Given the description of an element on the screen output the (x, y) to click on. 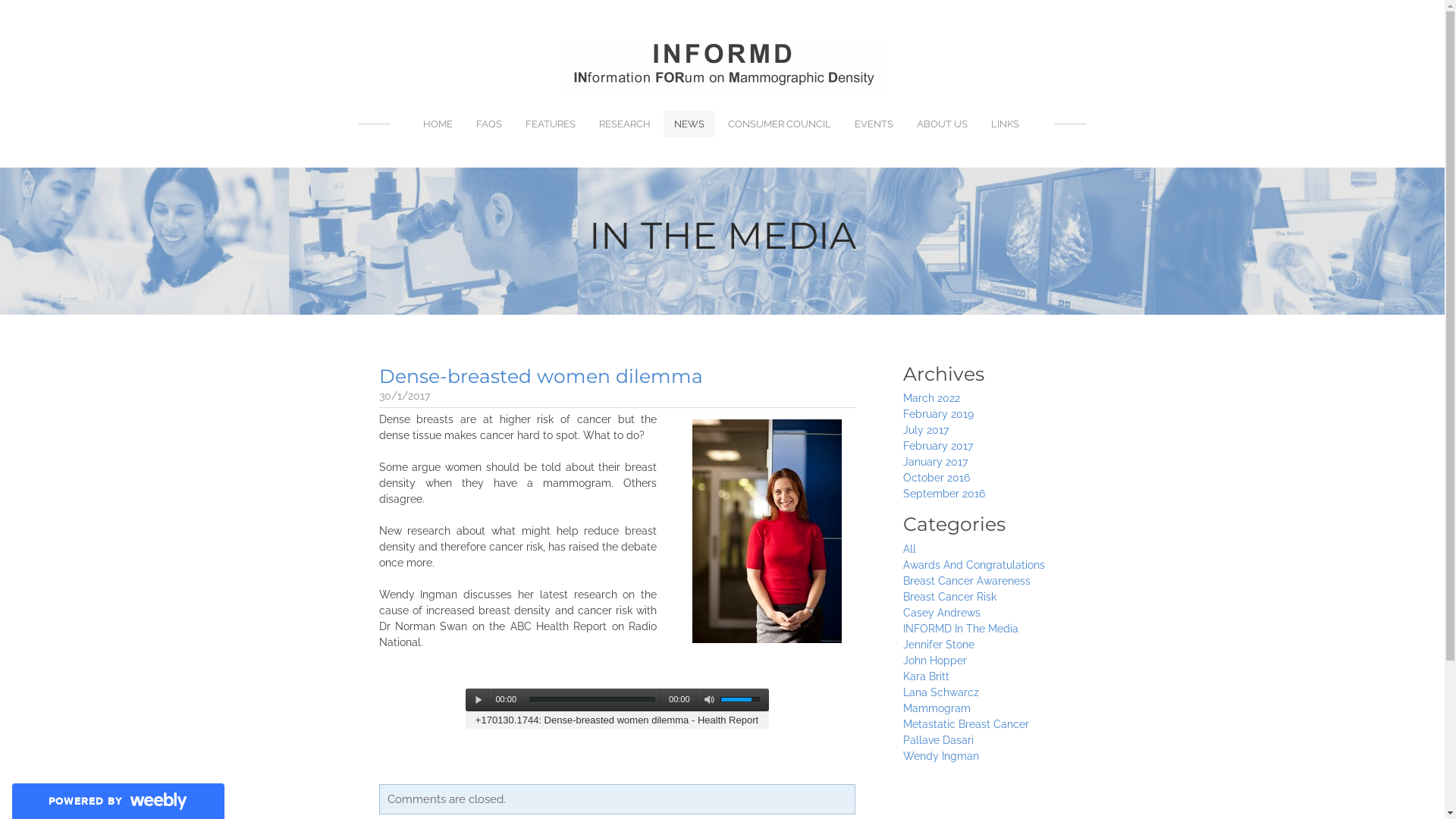
Jennifer Stone Element type: text (937, 644)
March 2022 Element type: text (930, 398)
July 2017 Element type: text (924, 429)
Metastatic Breast Cancer Element type: text (965, 724)
John Hopper Element type: text (934, 660)
FAQS Element type: text (488, 123)
Awards And Congratulations Element type: text (973, 564)
All Element type: text (908, 548)
Breast Cancer Awareness Element type: text (965, 580)
CONSUMER COUNCIL Element type: text (779, 123)
FEATURES Element type: text (550, 123)
Wendy Ingman Element type: text (940, 755)
Play/Pause Element type: hover (479, 699)
Mammogram Element type: text (935, 708)
October 2016 Element type: text (935, 477)
Pallave Dasari Element type: text (937, 740)
LINKS Element type: text (1004, 123)
Dense-breasted women dilemma Element type: text (540, 375)
NEWS Element type: text (689, 123)
Mute Toggle Element type: hover (708, 699)
INFORMD In The Media Element type: text (959, 628)
January 2017 Element type: text (934, 461)
September 2016 Element type: text (943, 493)
February 2017 Element type: text (937, 445)
HOME Element type: text (437, 123)
February 2019 Element type: text (937, 413)
Breast Cancer Risk Element type: text (948, 596)
ABOUT US Element type: text (942, 123)
EVENTS Element type: text (873, 123)
RESEARCH Element type: text (624, 123)
Casey Andrews Element type: text (940, 612)
Lana Schwarcz Element type: text (940, 692)
Kara Britt Element type: text (925, 676)
